Given the description of an element on the screen output the (x, y) to click on. 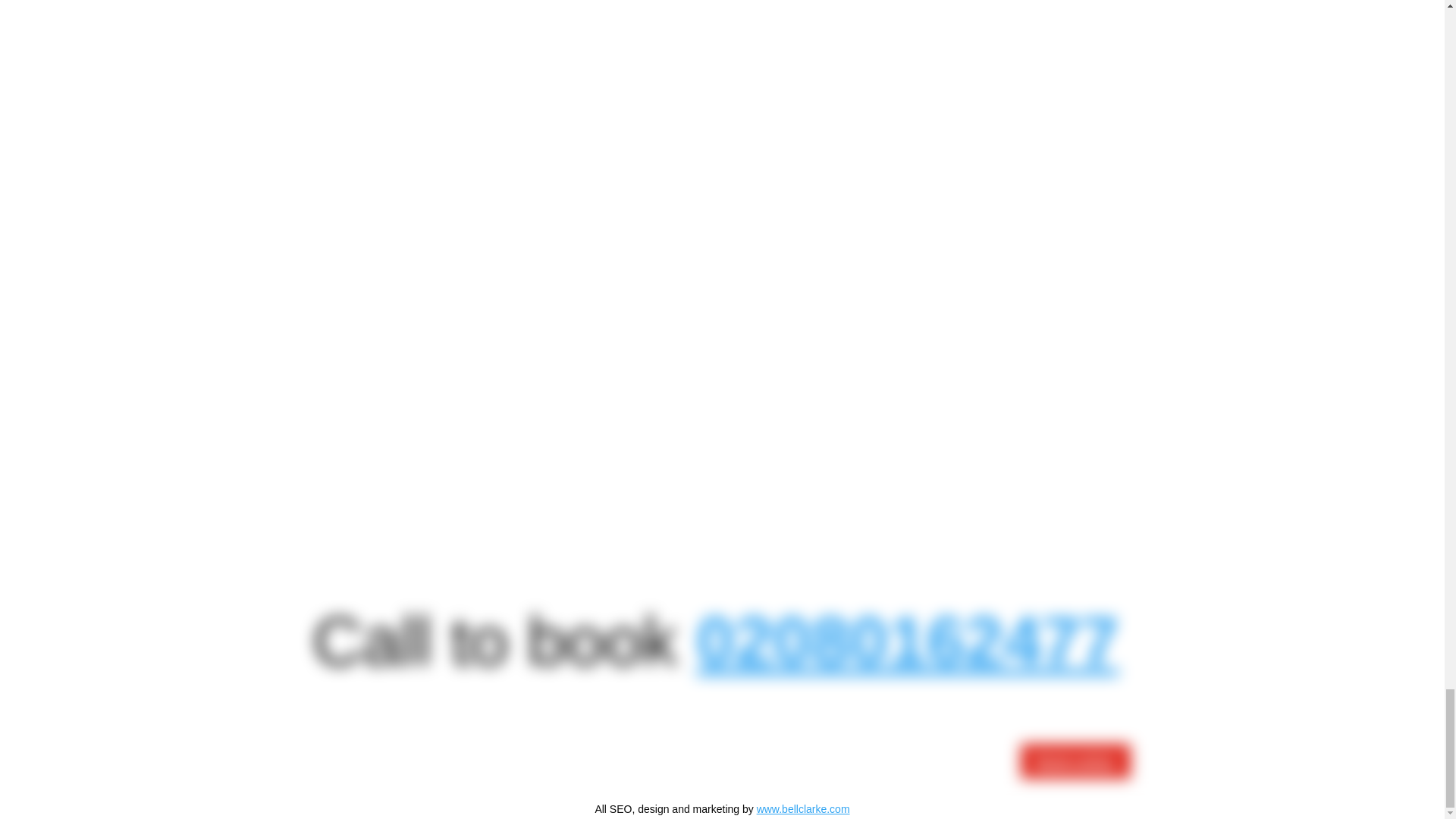
SEO marketing and design (803, 808)
